Given the description of an element on the screen output the (x, y) to click on. 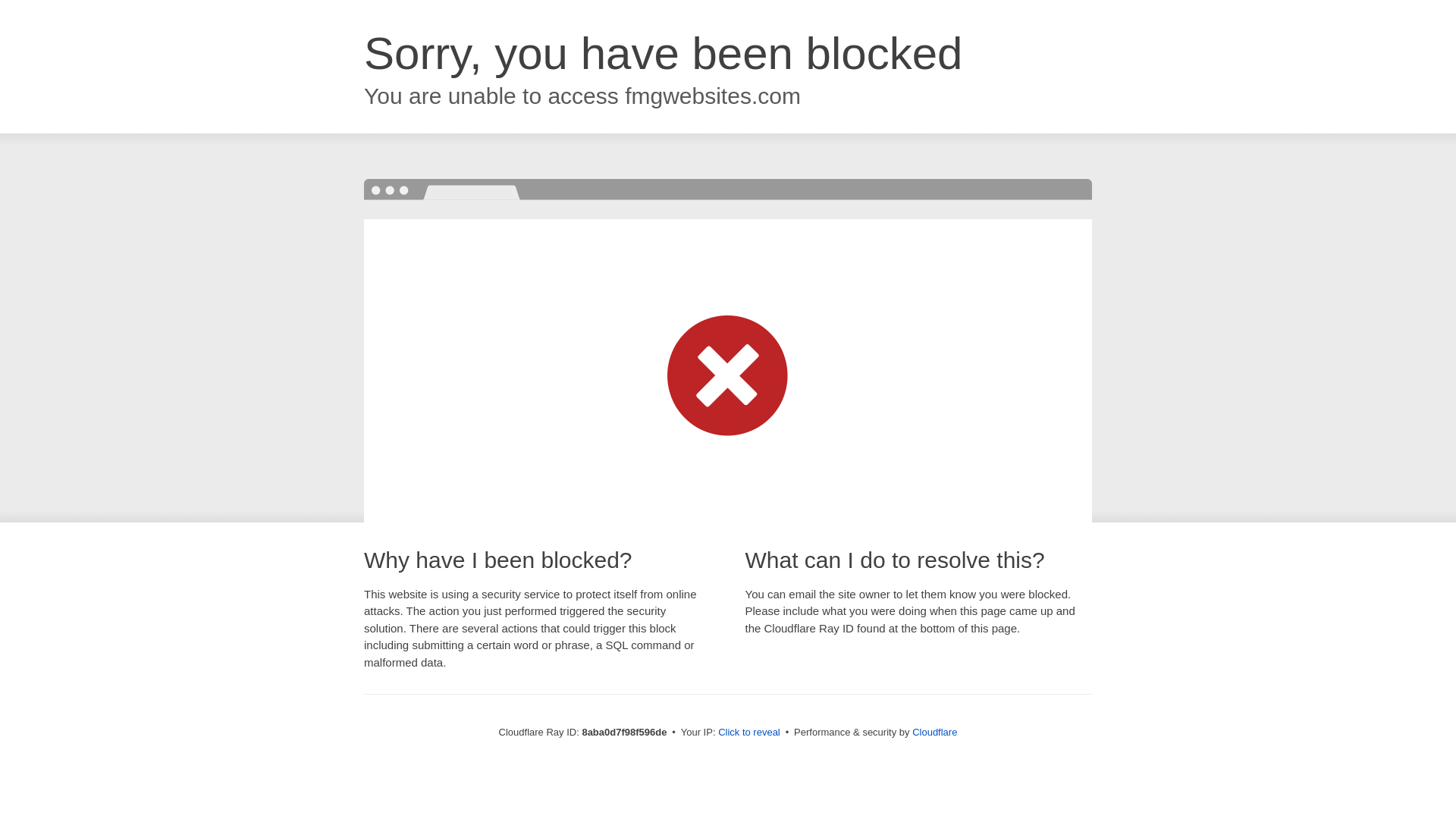
Click to reveal (748, 732)
Cloudflare (934, 731)
